Given the description of an element on the screen output the (x, y) to click on. 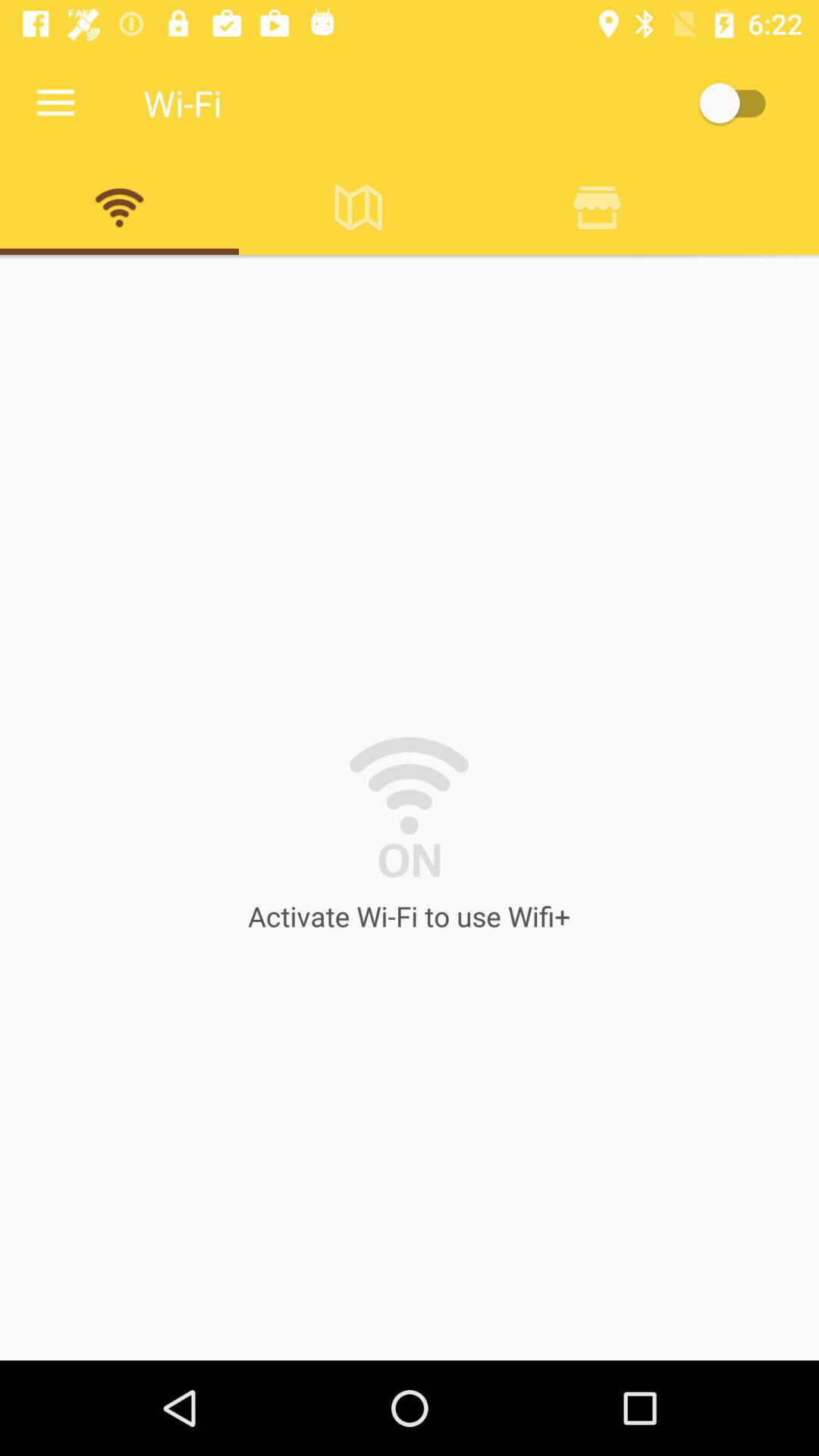
review location 's signal (596, 206)
